Given the description of an element on the screen output the (x, y) to click on. 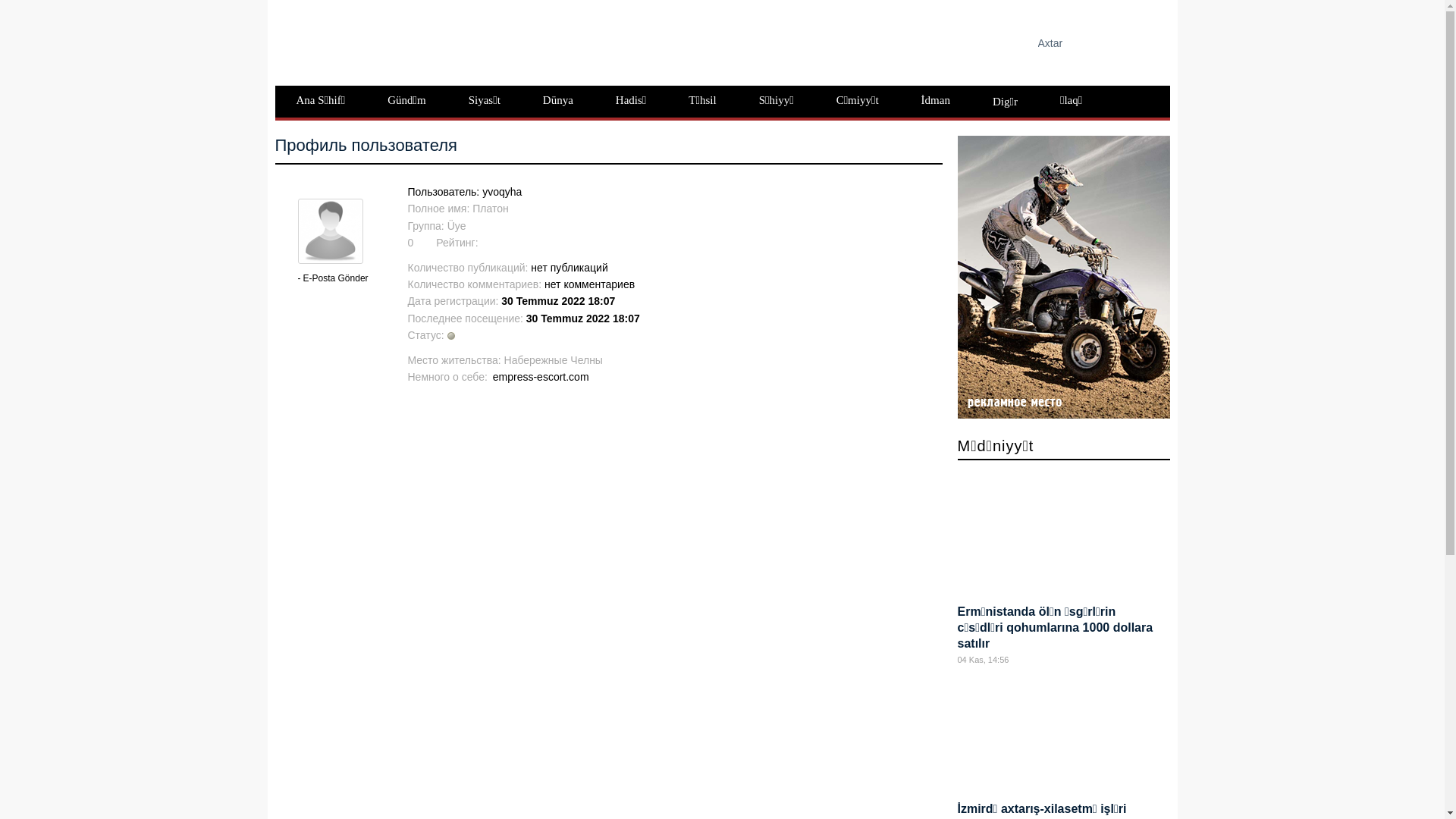
facebook Element type: hover (746, 39)
Axtar Element type: hover (1132, 42)
empress-escort.com Element type: text (539, 376)
